Given the description of an element on the screen output the (x, y) to click on. 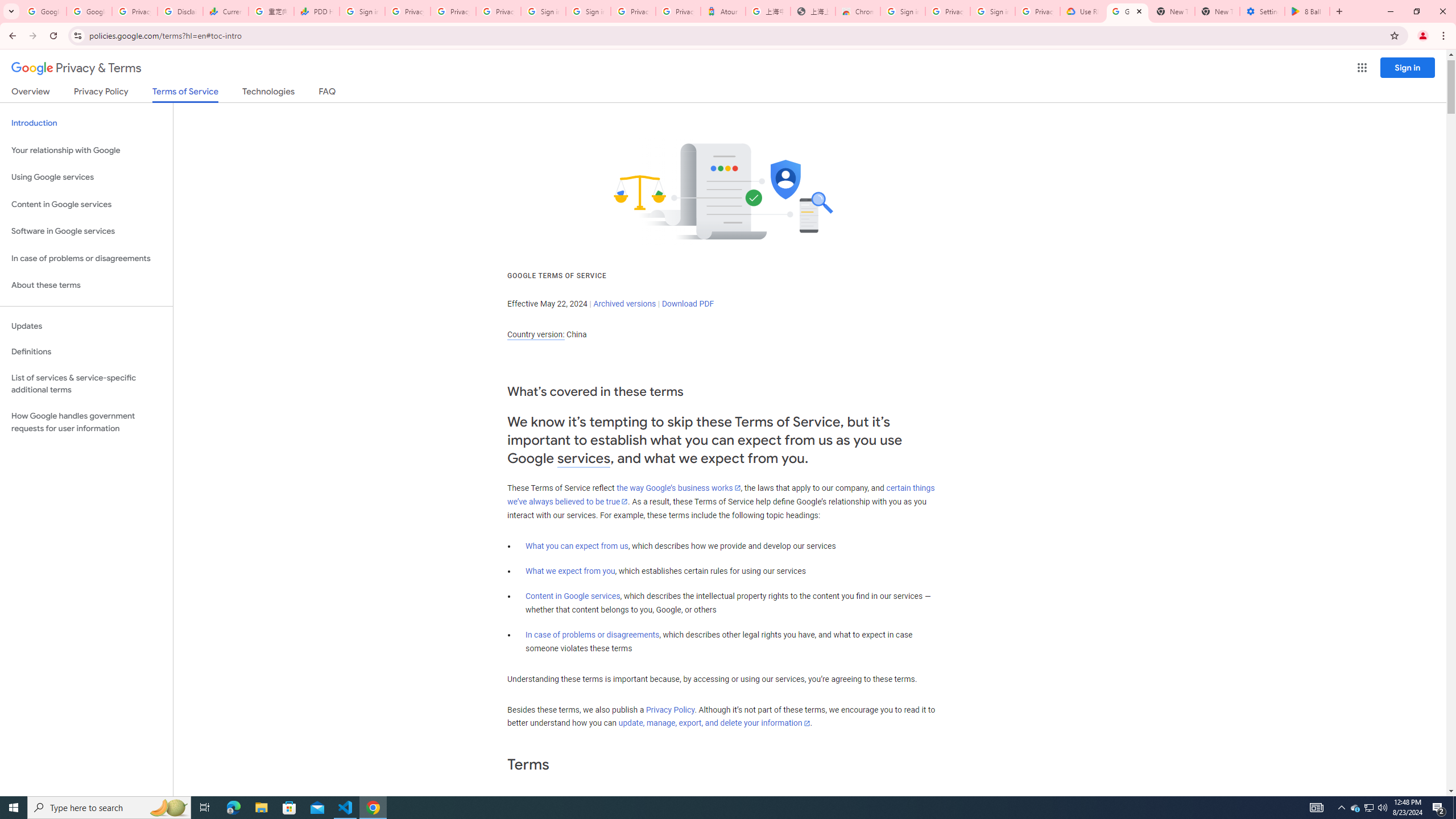
Using Google services (86, 176)
8 Ball Pool - Apps on Google Play (1307, 11)
Download PDF (687, 303)
Sign in - Google Accounts (587, 11)
About these terms (86, 284)
Software in Google services (86, 230)
Sign in - Google Accounts (992, 11)
